Given the description of an element on the screen output the (x, y) to click on. 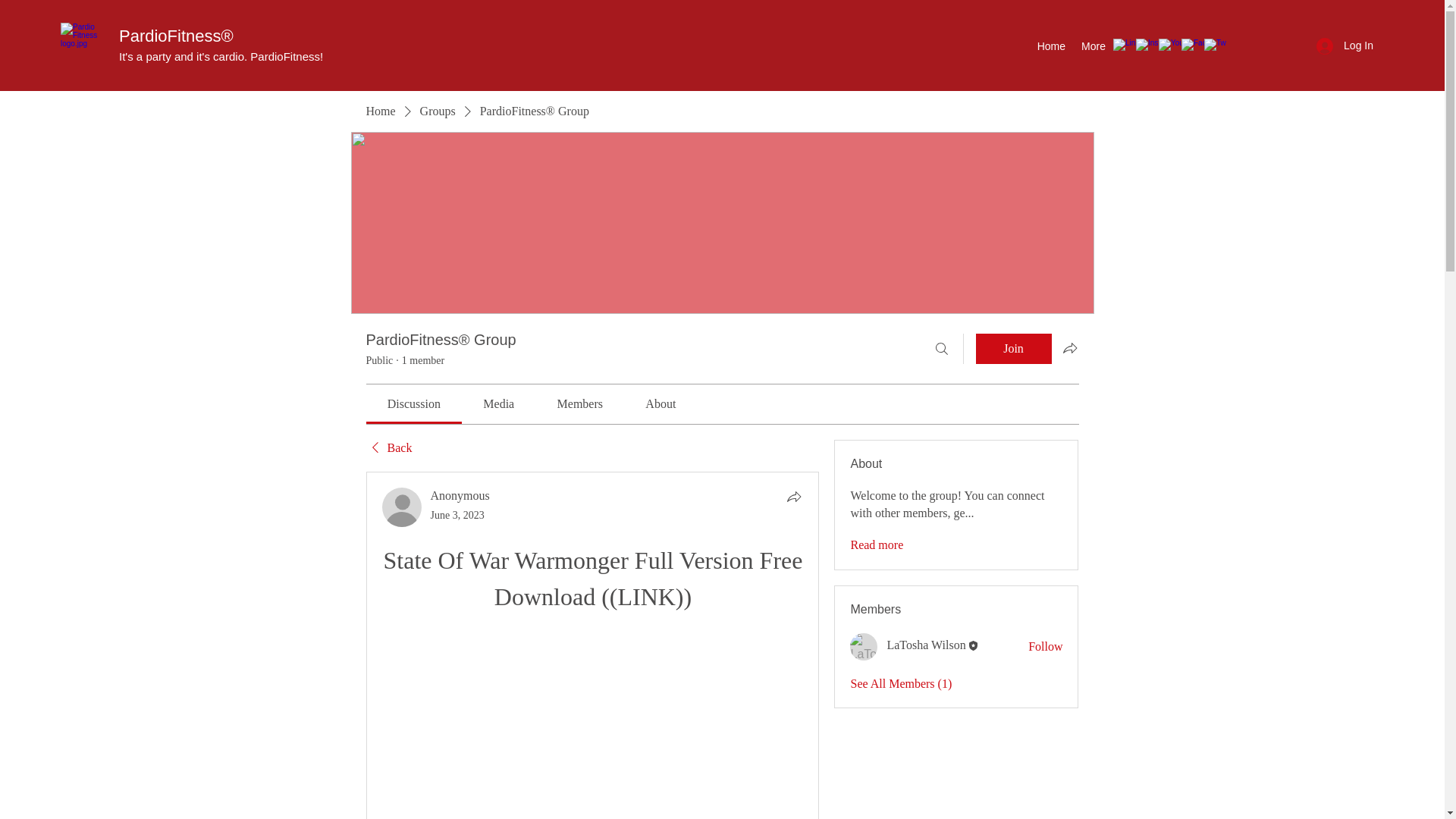
LaTosha Wilson (925, 644)
Home (379, 111)
June 3, 2023 (457, 514)
Follow (1044, 646)
Home (1050, 46)
Anonymous (459, 495)
Read more (876, 545)
Back (388, 447)
Join (1013, 348)
Groups (437, 111)
Log In (1345, 45)
LaTosha Wilson (863, 646)
